Given the description of an element on the screen output the (x, y) to click on. 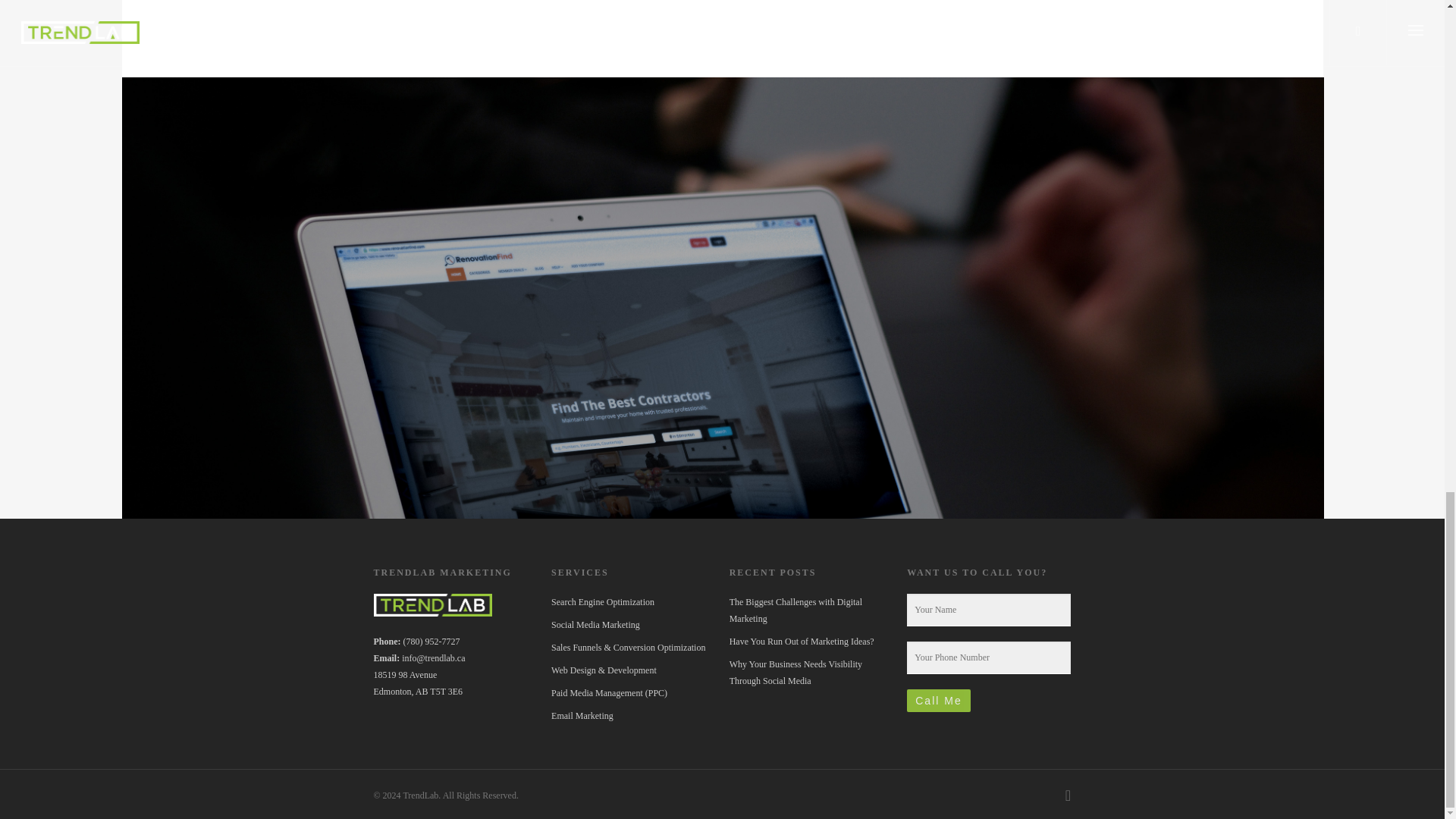
Call Me (938, 700)
Social Media Marketing (632, 624)
Search Engine Optimization (632, 601)
